Given the description of an element on the screen output the (x, y) to click on. 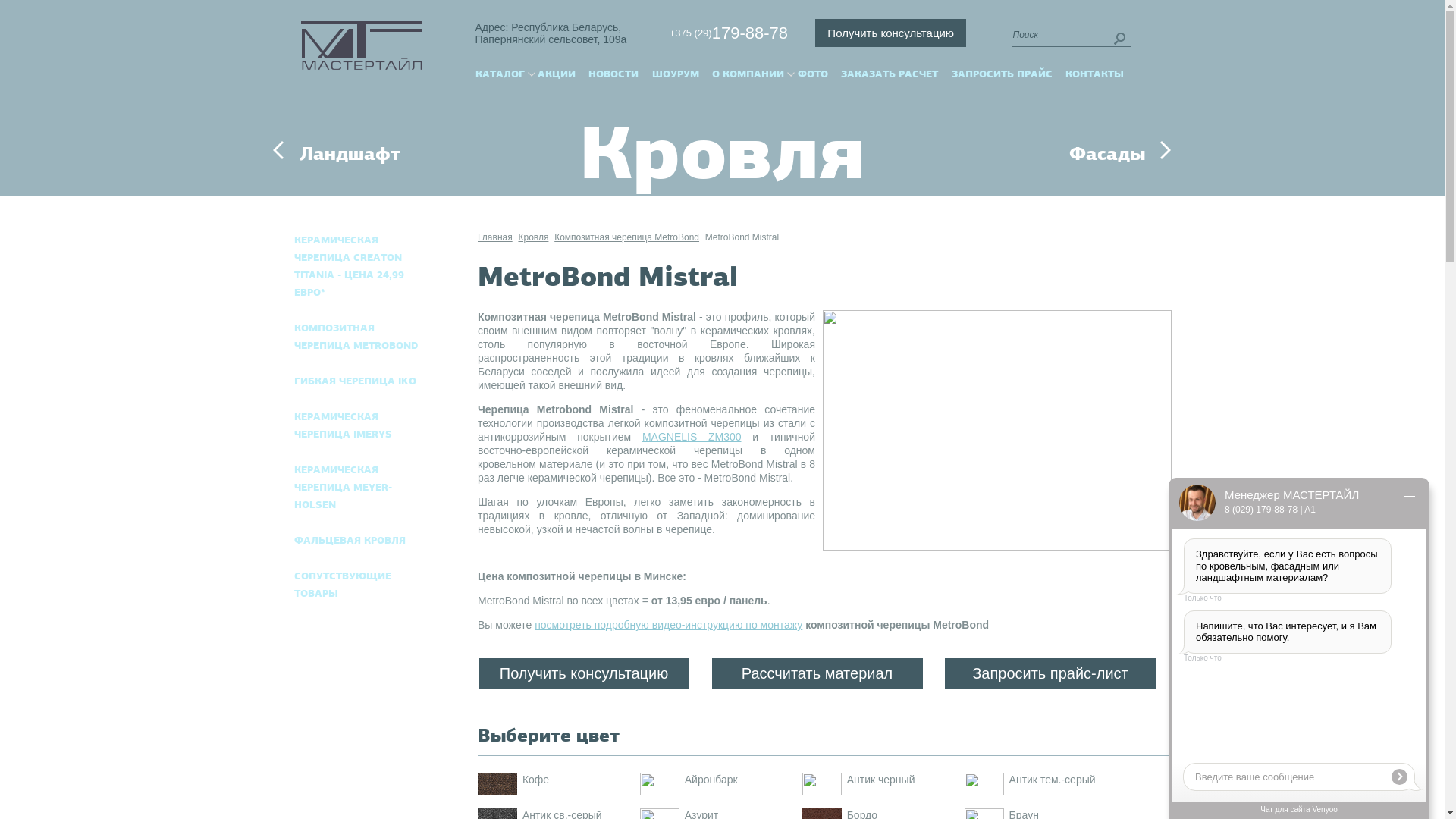
MetroBond Mistral Element type: text (741, 237)
+375 (29)
179-88-78 Element type: text (720, 32)
MAGNELIS ZM300 Element type: text (691, 436)
